Given the description of an element on the screen output the (x, y) to click on. 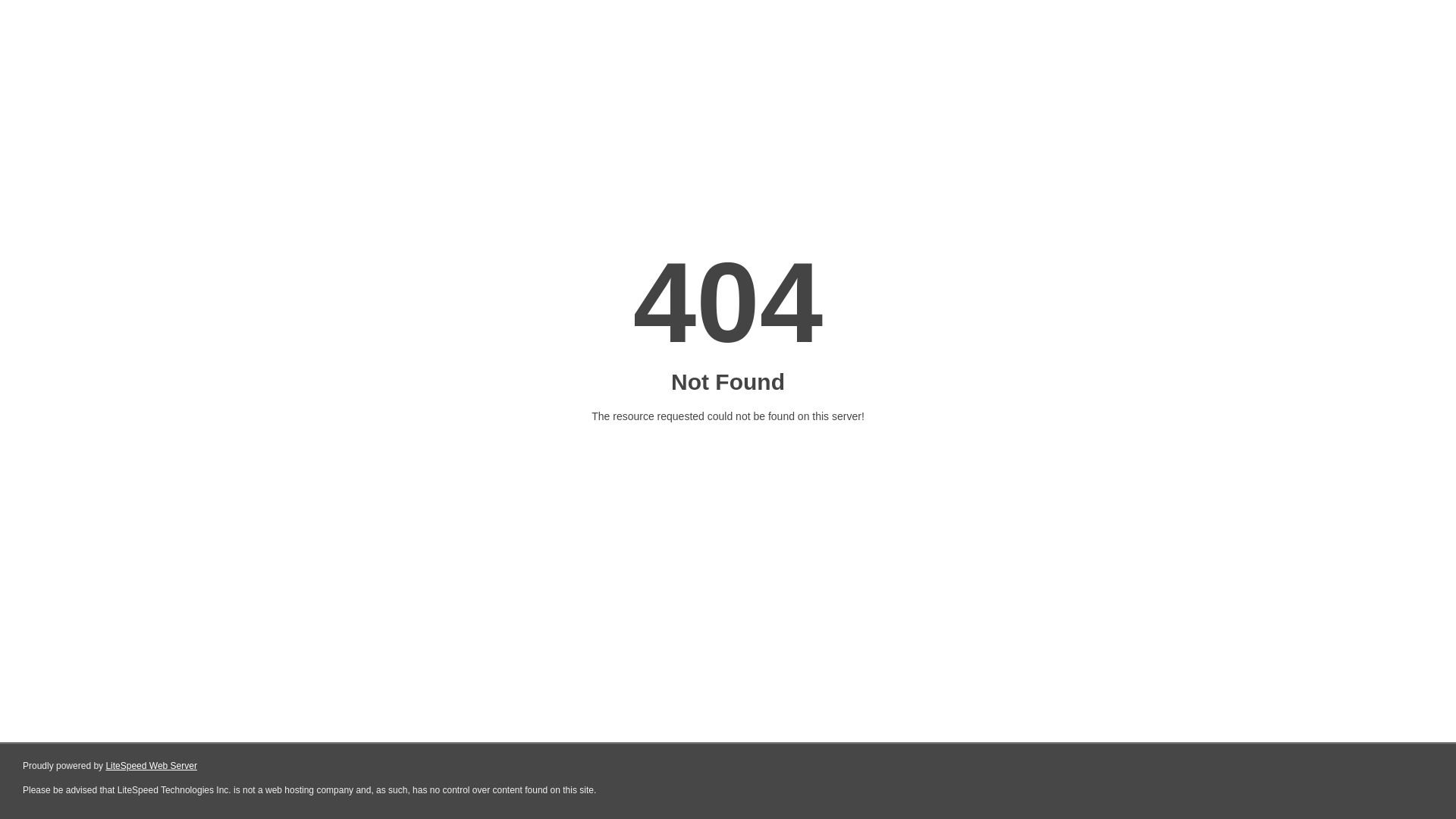
LiteSpeed Web Server Element type: text (151, 765)
